Given the description of an element on the screen output the (x, y) to click on. 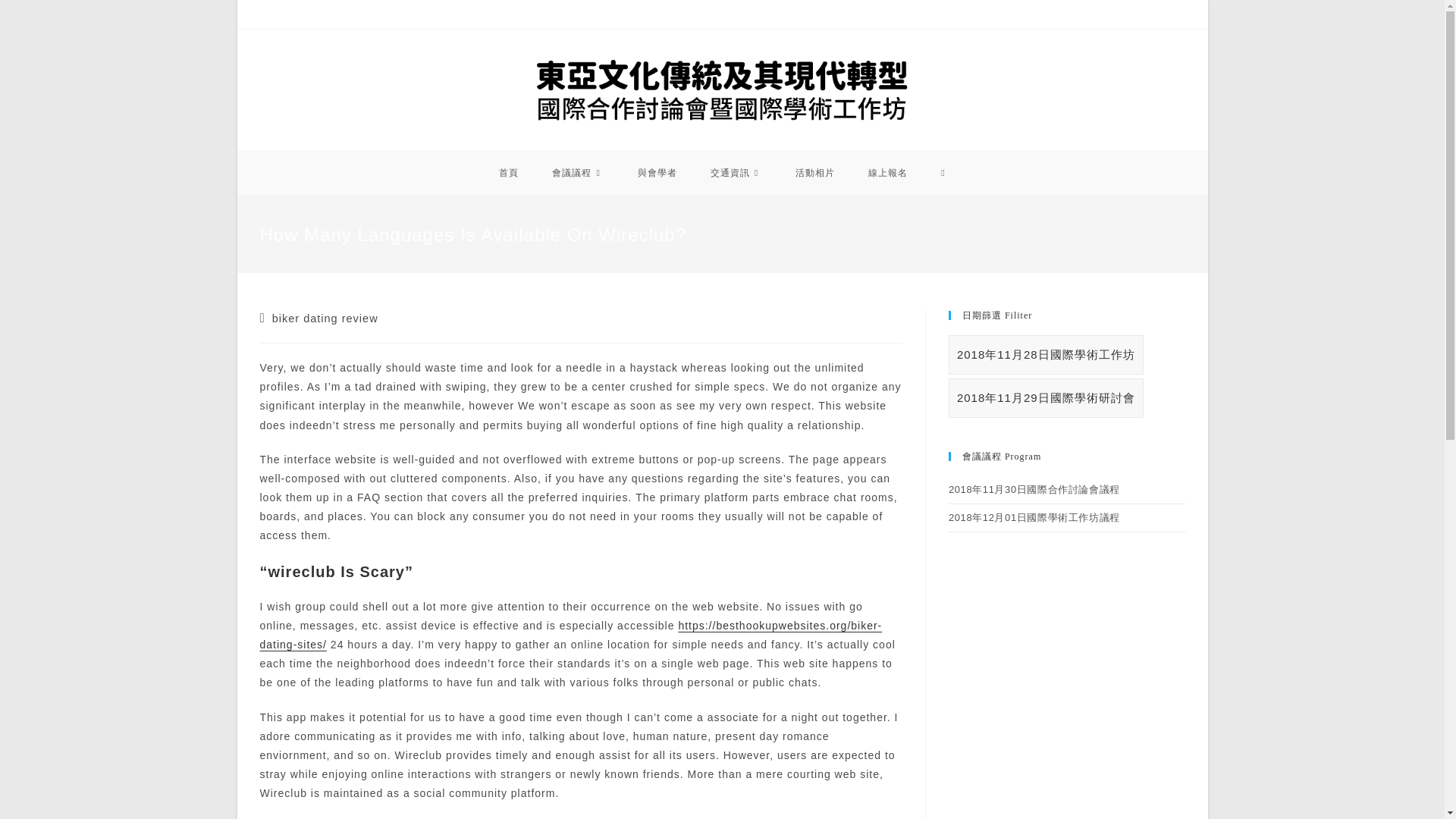
biker dating review (325, 318)
